Given the description of an element on the screen output the (x, y) to click on. 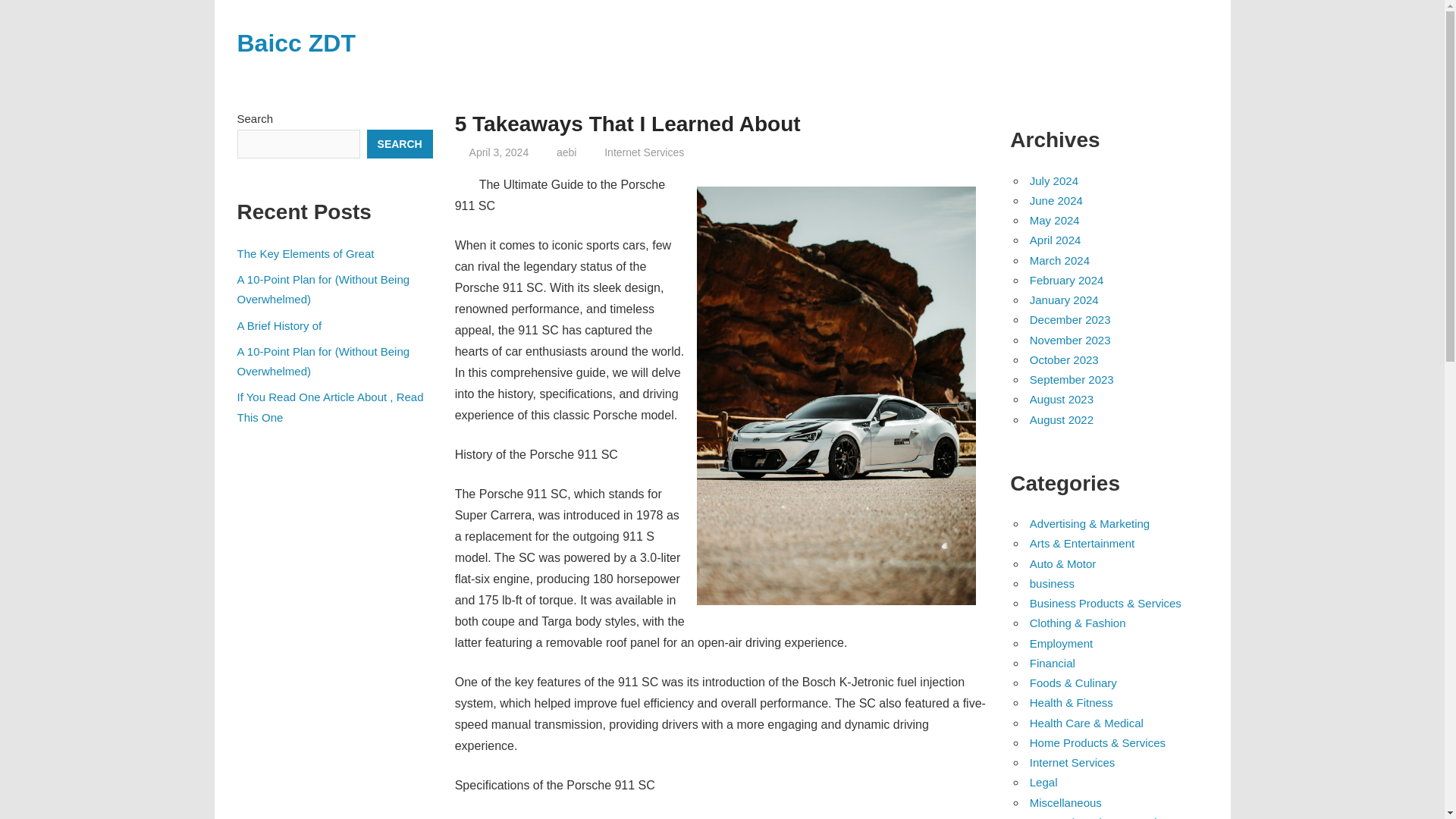
April 2024 (1055, 239)
SEARCH (399, 143)
Financial (1052, 662)
December 2023 (1069, 318)
April 3, 2024 (498, 152)
3:15 am (498, 152)
business (1051, 583)
Baicc ZDT (295, 42)
July 2024 (1053, 180)
February 2024 (1066, 279)
October 2023 (1064, 359)
August 2023 (1061, 399)
The Key Elements of Great (304, 253)
January 2024 (1064, 299)
March 2024 (1059, 259)
